Given the description of an element on the screen output the (x, y) to click on. 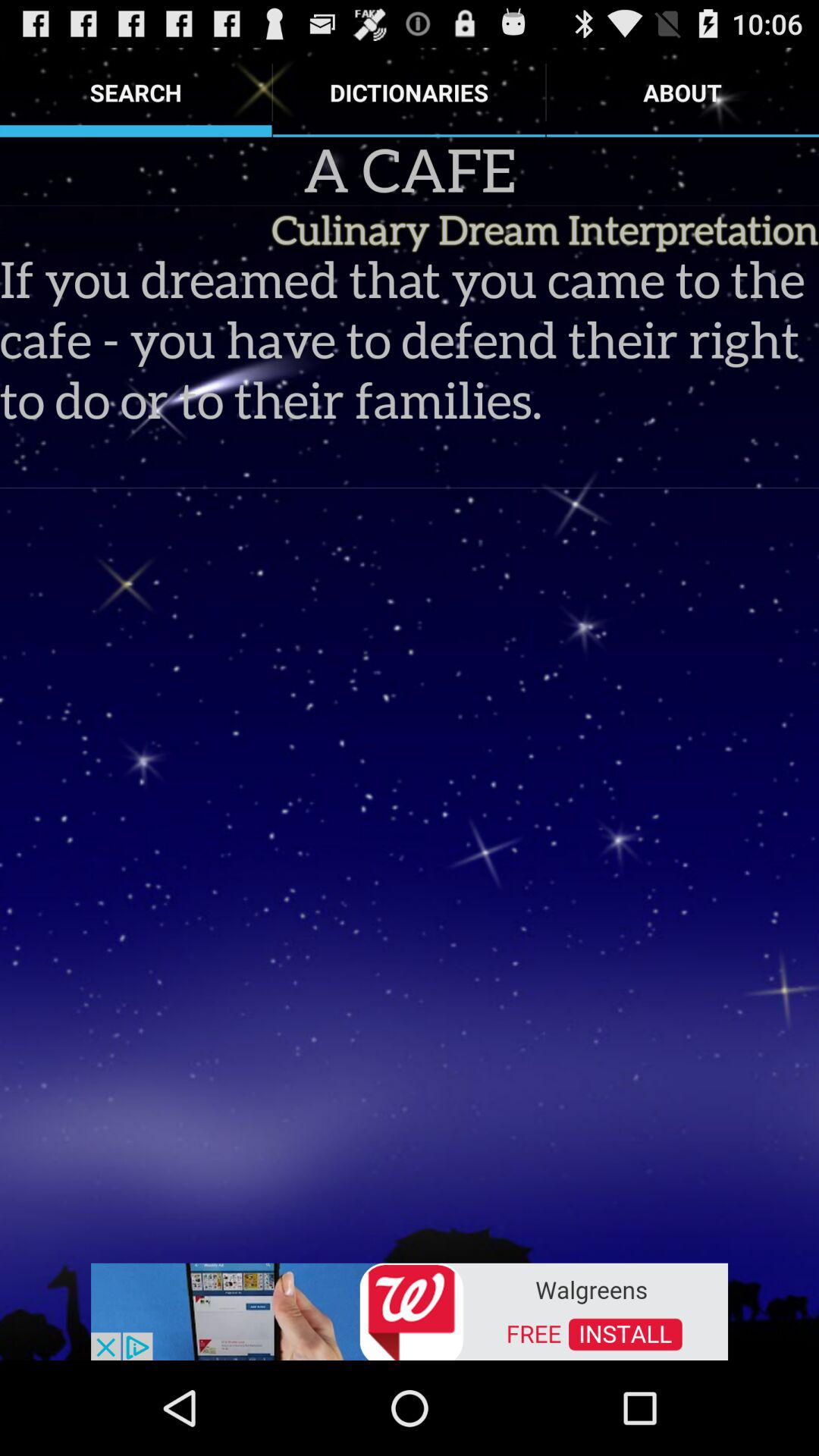
follow the banner (409, 1310)
